Given the description of an element on the screen output the (x, y) to click on. 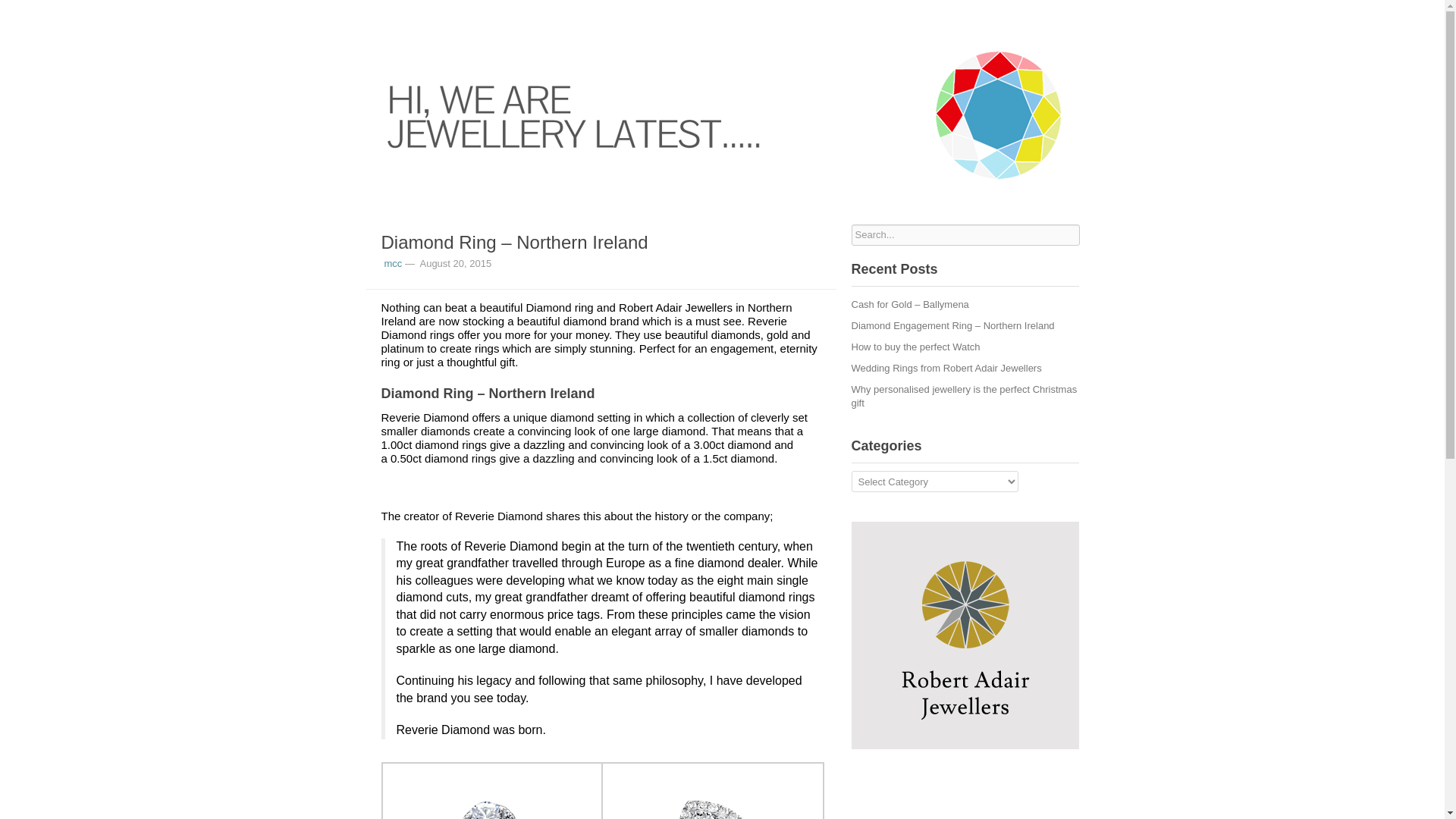
Jewellery Latest (721, 115)
mcc (392, 263)
mcc (392, 263)
Wedding Rings from Robert Adair Jewellers (945, 367)
How to buy the perfect Watch (914, 346)
Why personalised jewellery is the perfect Christmas gift (963, 396)
